Given the description of an element on the screen output the (x, y) to click on. 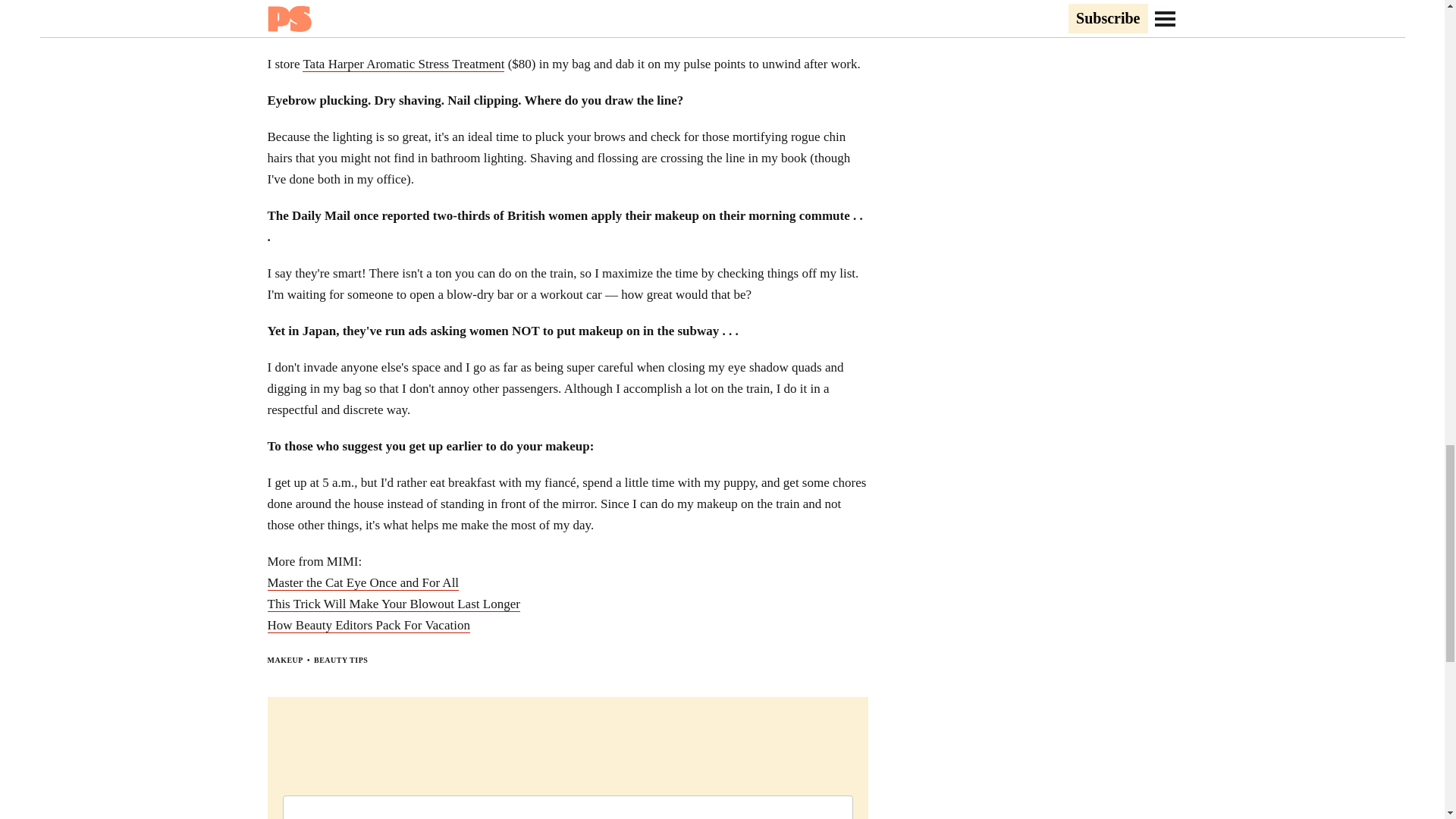
MAKEUP (284, 660)
Tata Harper Aromatic Stress Treatment (402, 64)
BEAUTY TIPS (341, 660)
This Trick Will Make Your Blowout Last Longer (392, 604)
How Beauty Editors Pack For Vacation (367, 625)
Master the Cat Eye Once and For All (362, 582)
